Given the description of an element on the screen output the (x, y) to click on. 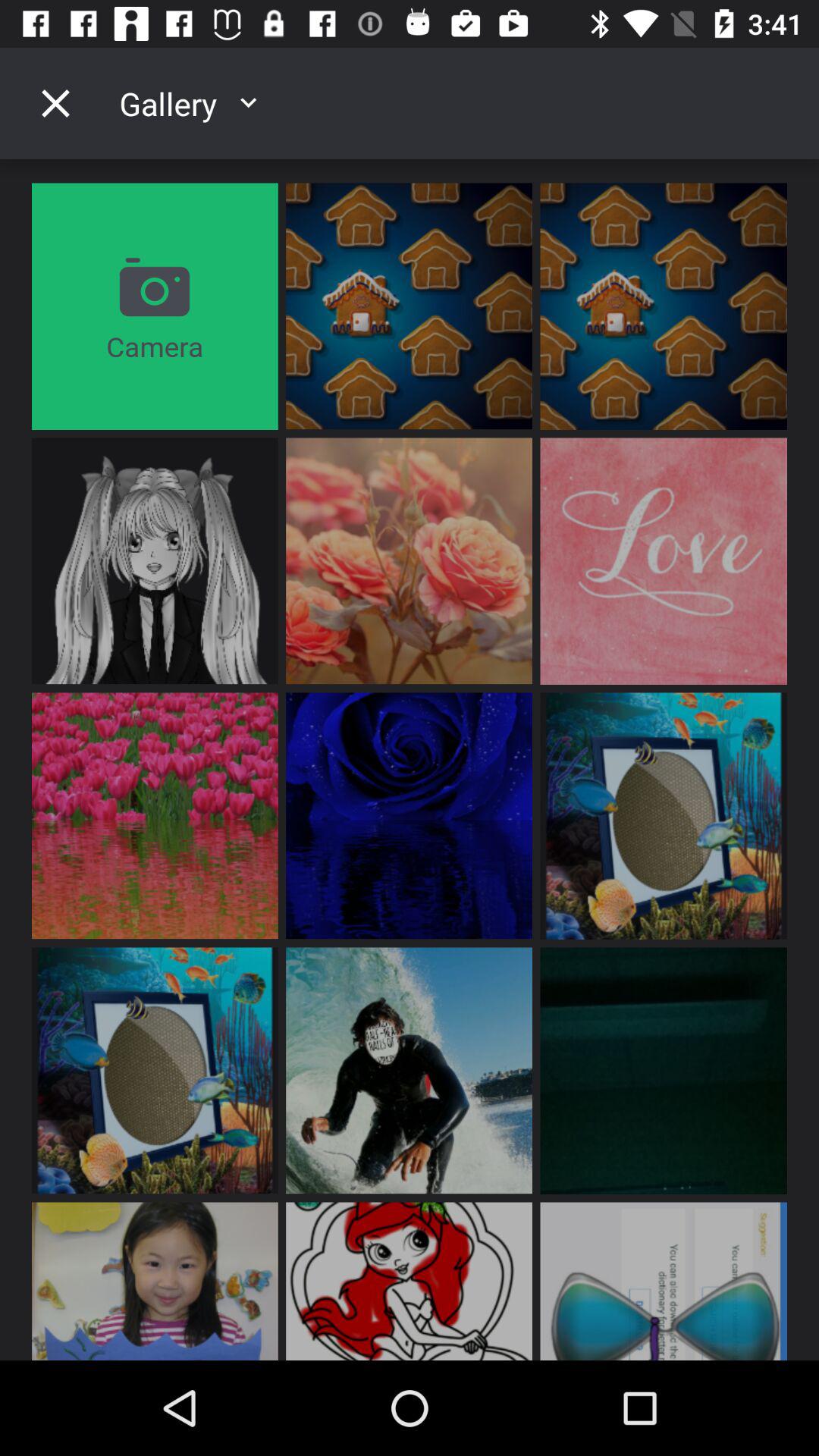
tap the icon to the left of the gallery item (55, 103)
